Given the description of an element on the screen output the (x, y) to click on. 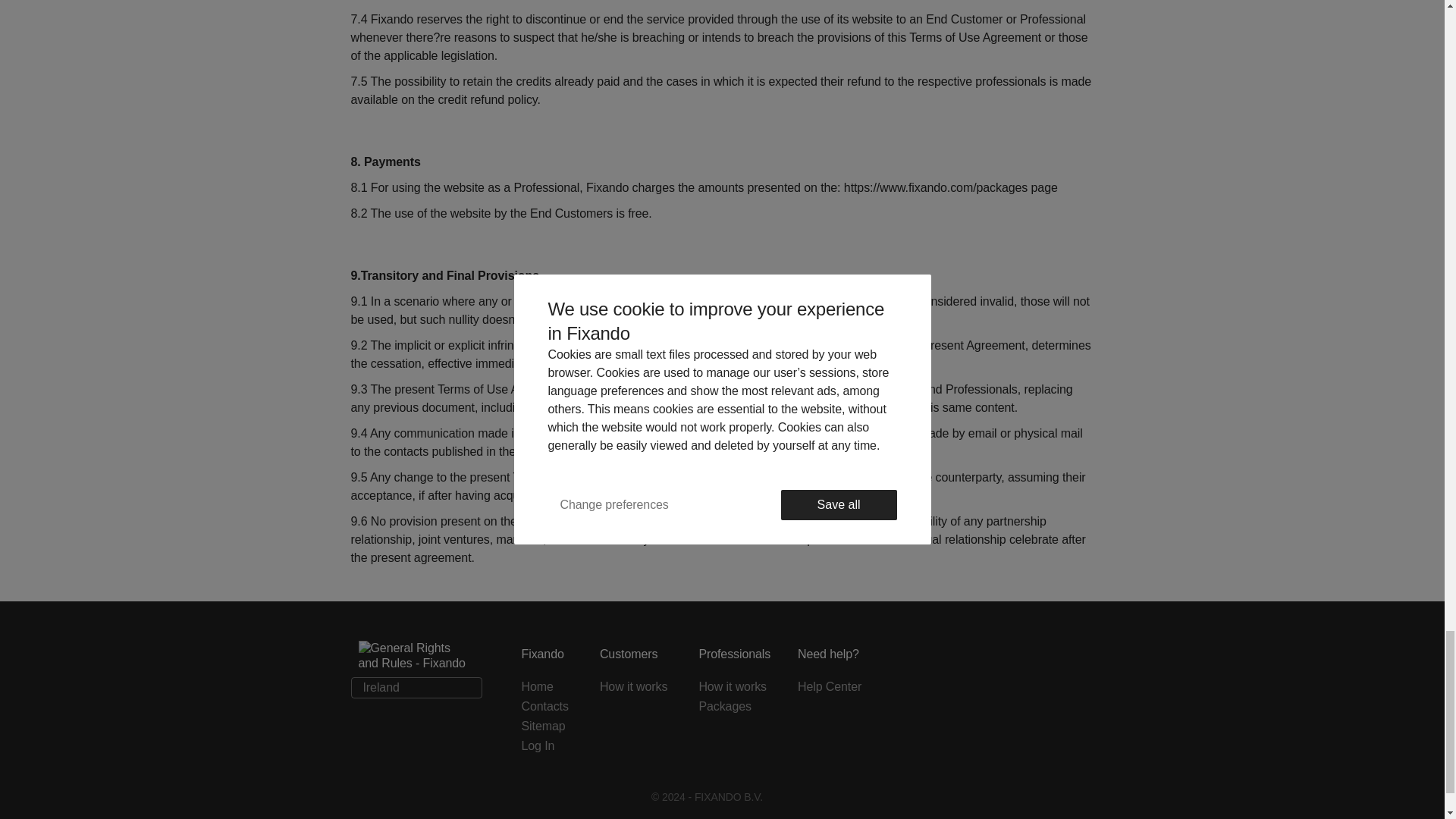
How it works (737, 686)
Help Center (834, 686)
Sitemap (548, 726)
How it works (638, 686)
Ireland (415, 687)
Log In (548, 745)
Packages (737, 706)
Contacts (548, 706)
Home (548, 686)
